Given the description of an element on the screen output the (x, y) to click on. 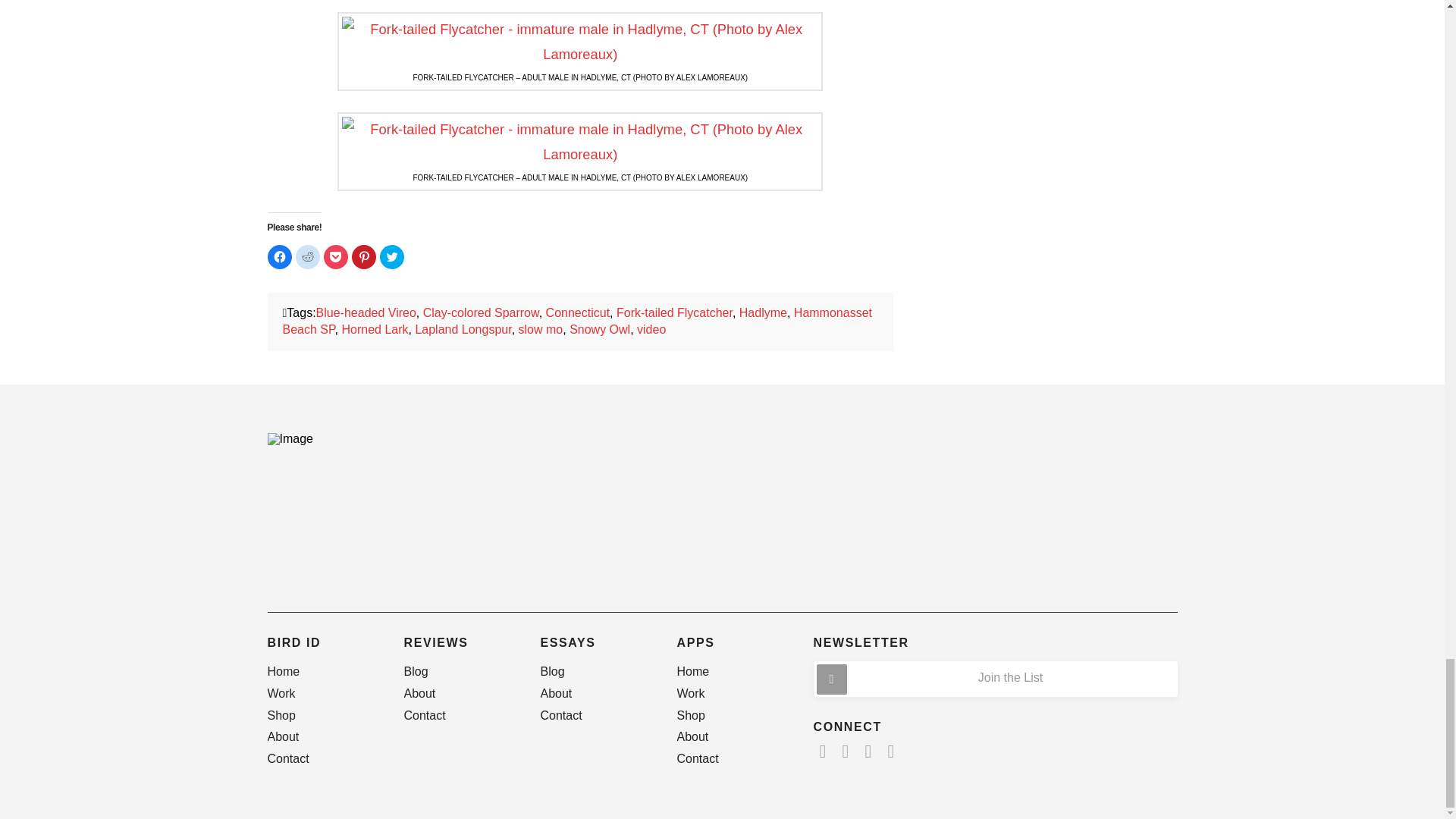
Click to share on Pinterest (363, 256)
Click to share on Reddit (307, 256)
Click to share on Facebook (278, 256)
Click to share on Twitter (390, 256)
Click to share on Pocket (335, 256)
